Given the description of an element on the screen output the (x, y) to click on. 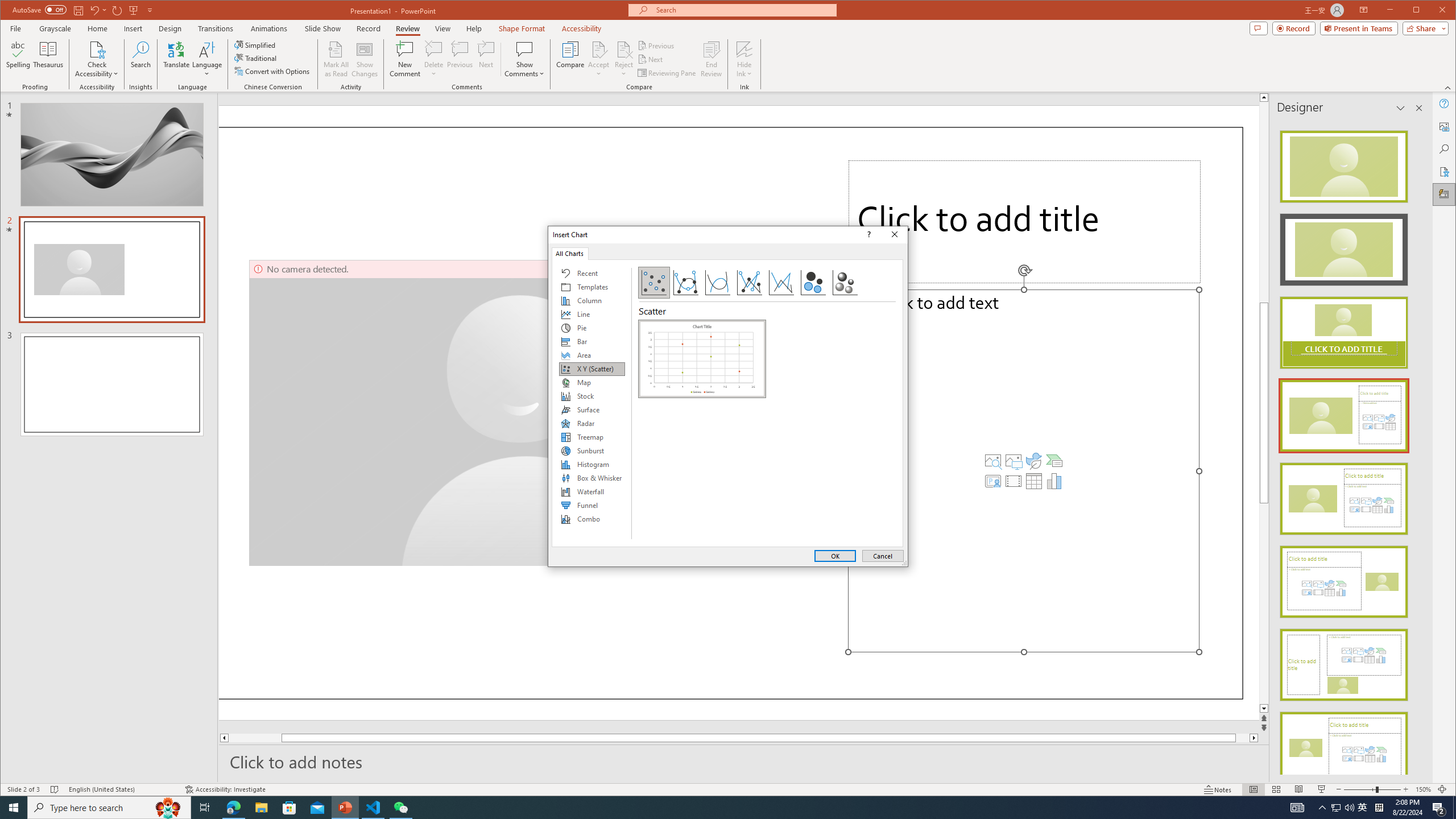
Recommended Design: Design Idea (1343, 163)
File Explorer (261, 807)
Q2790: 100% (1349, 807)
Area (591, 354)
Context help (867, 234)
Language (207, 59)
All Charts (569, 253)
Simplified (255, 44)
Tray Input Indicator - Chinese (Simplified, China) (1378, 807)
WeChat - 1 running window (400, 807)
Column (591, 300)
